Given the description of an element on the screen output the (x, y) to click on. 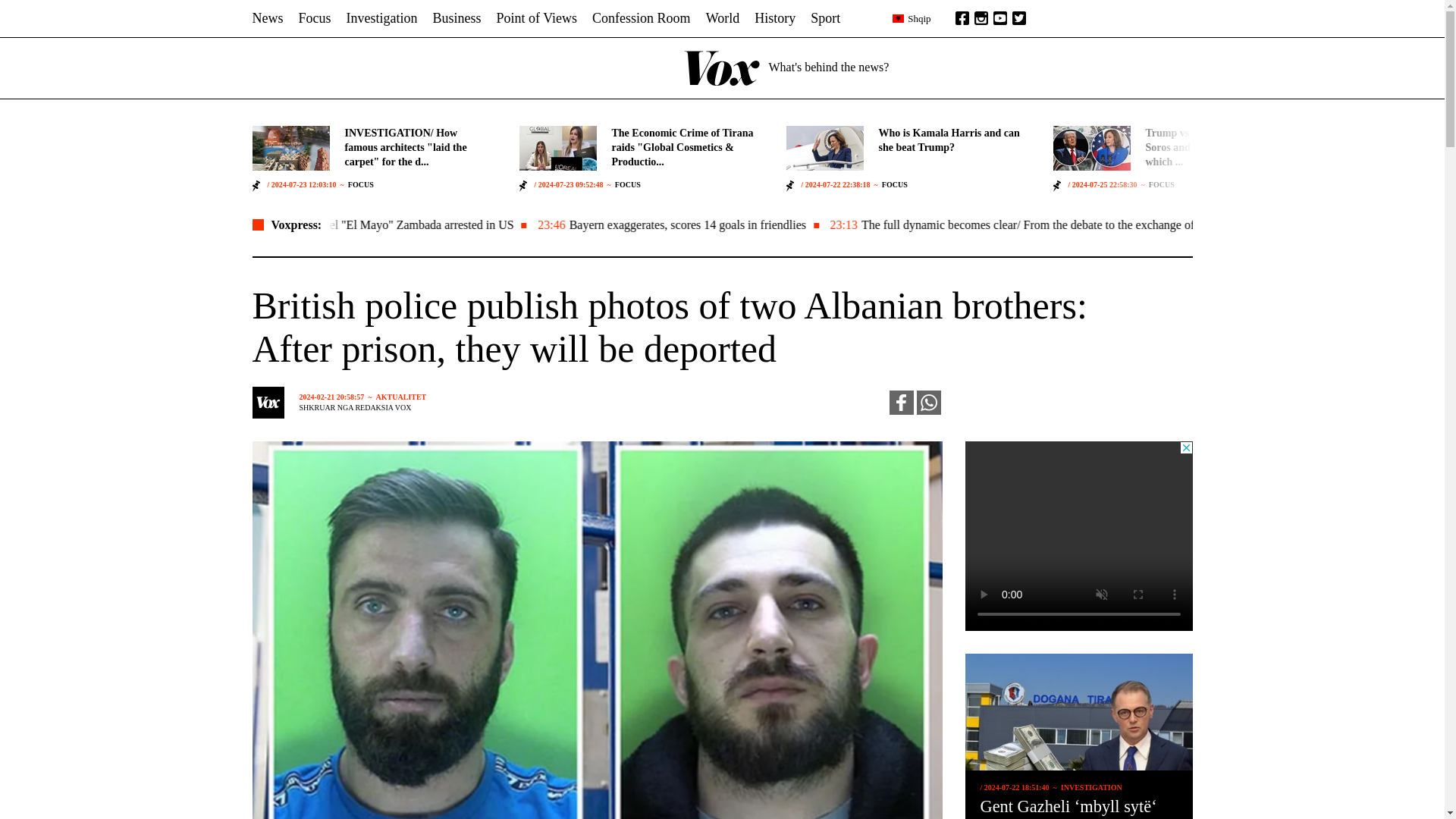
3rd party ad content (1077, 535)
History (774, 17)
Business (456, 17)
News (266, 17)
Focus (314, 17)
Shqip (911, 17)
Sport (825, 17)
World (722, 17)
Confession Room (641, 17)
Investigation (381, 17)
Who is Kamala Harris and can she beat Trump? (951, 140)
Point of Views (537, 17)
